Given the description of an element on the screen output the (x, y) to click on. 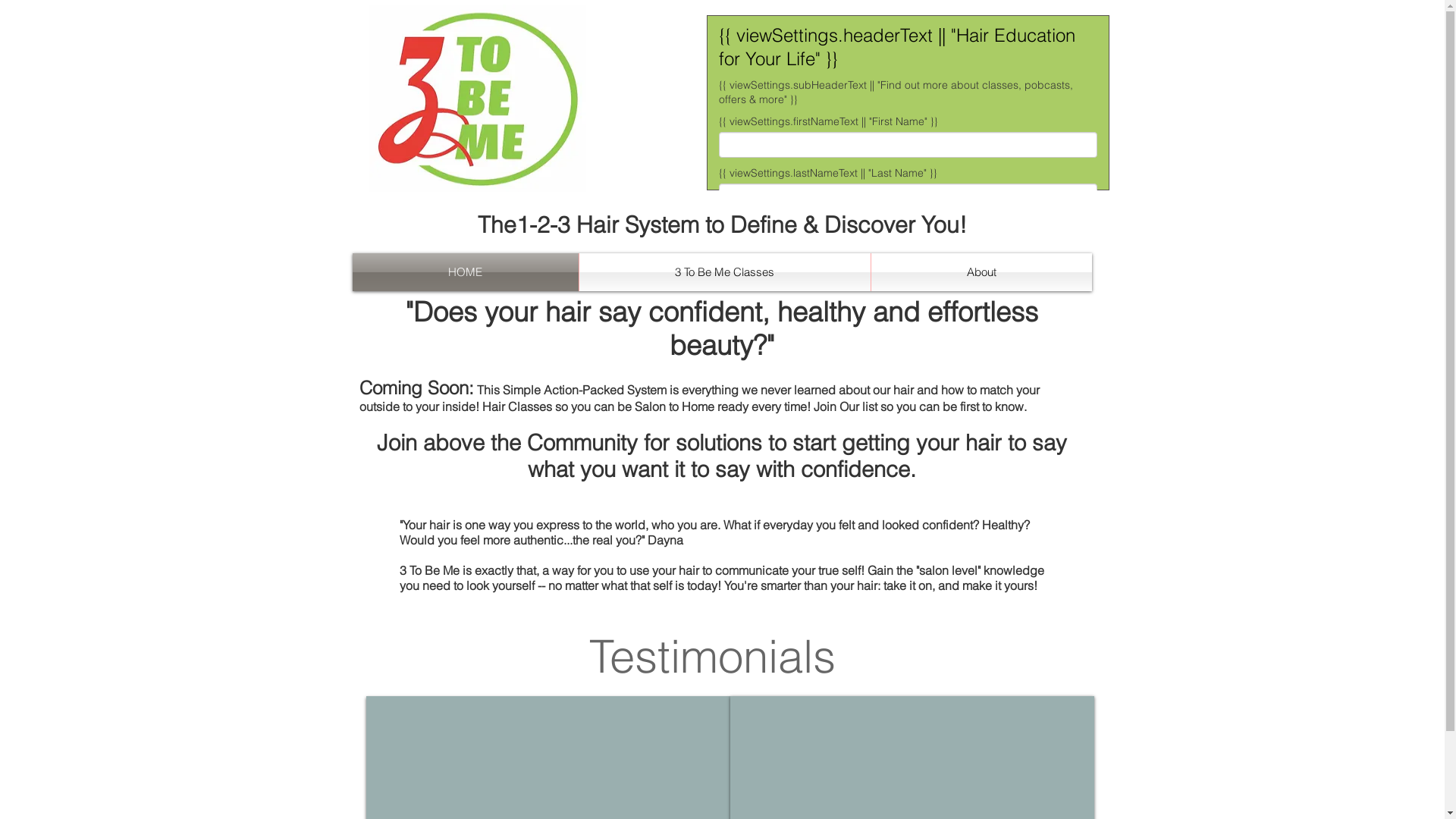
3toBEme1.jpg 2015-12-21-15:11:41 Element type: hover (476, 97)
HOME Element type: text (464, 272)
About Element type: text (980, 272)
3 To Be Me Classes Element type: text (724, 272)
Contact Collection Element type: hover (907, 102)
